Given the description of an element on the screen output the (x, y) to click on. 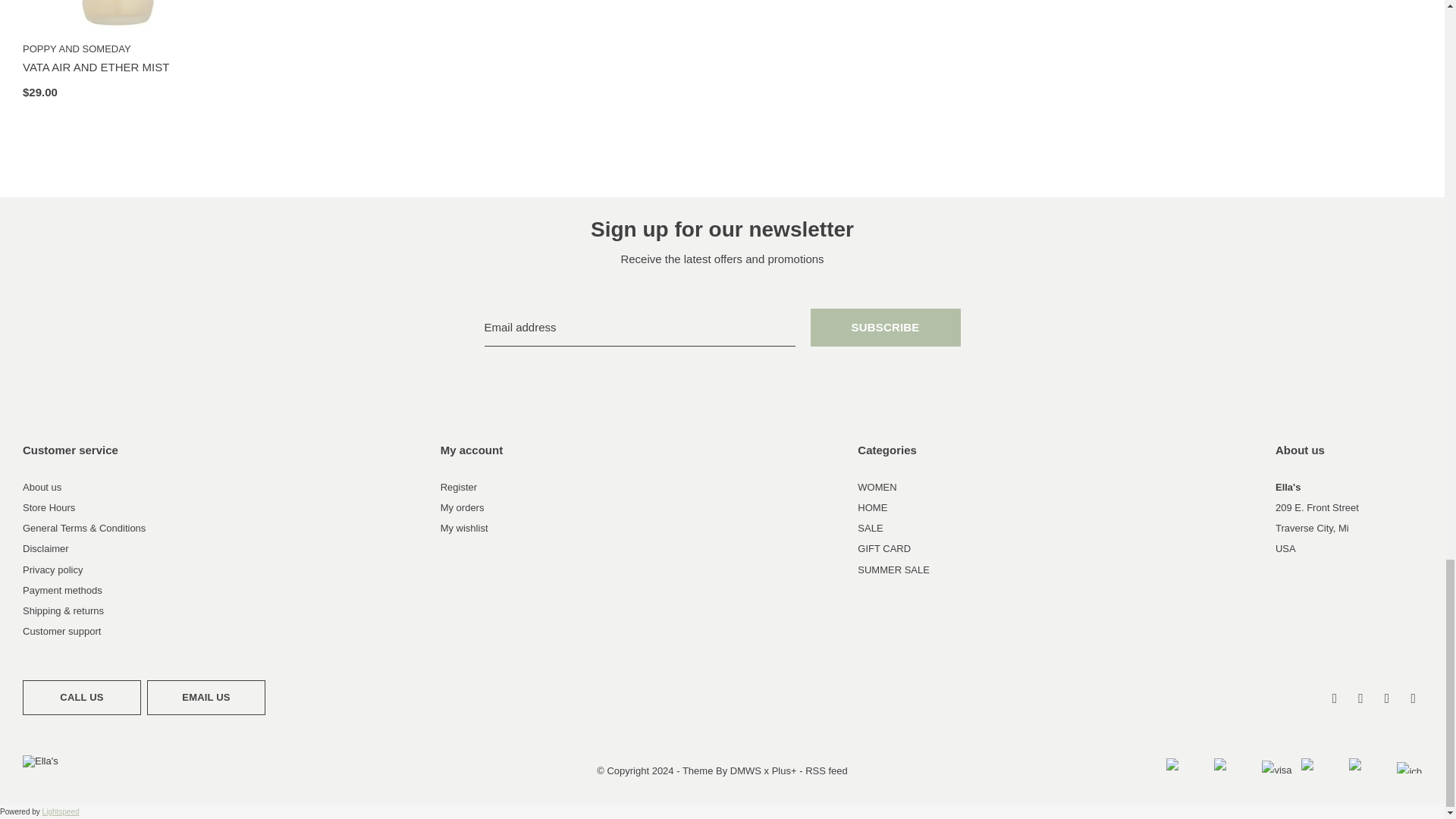
My orders (462, 507)
Lightspeed (61, 811)
Register (459, 487)
My wishlist (464, 527)
